Given the description of an element on the screen output the (x, y) to click on. 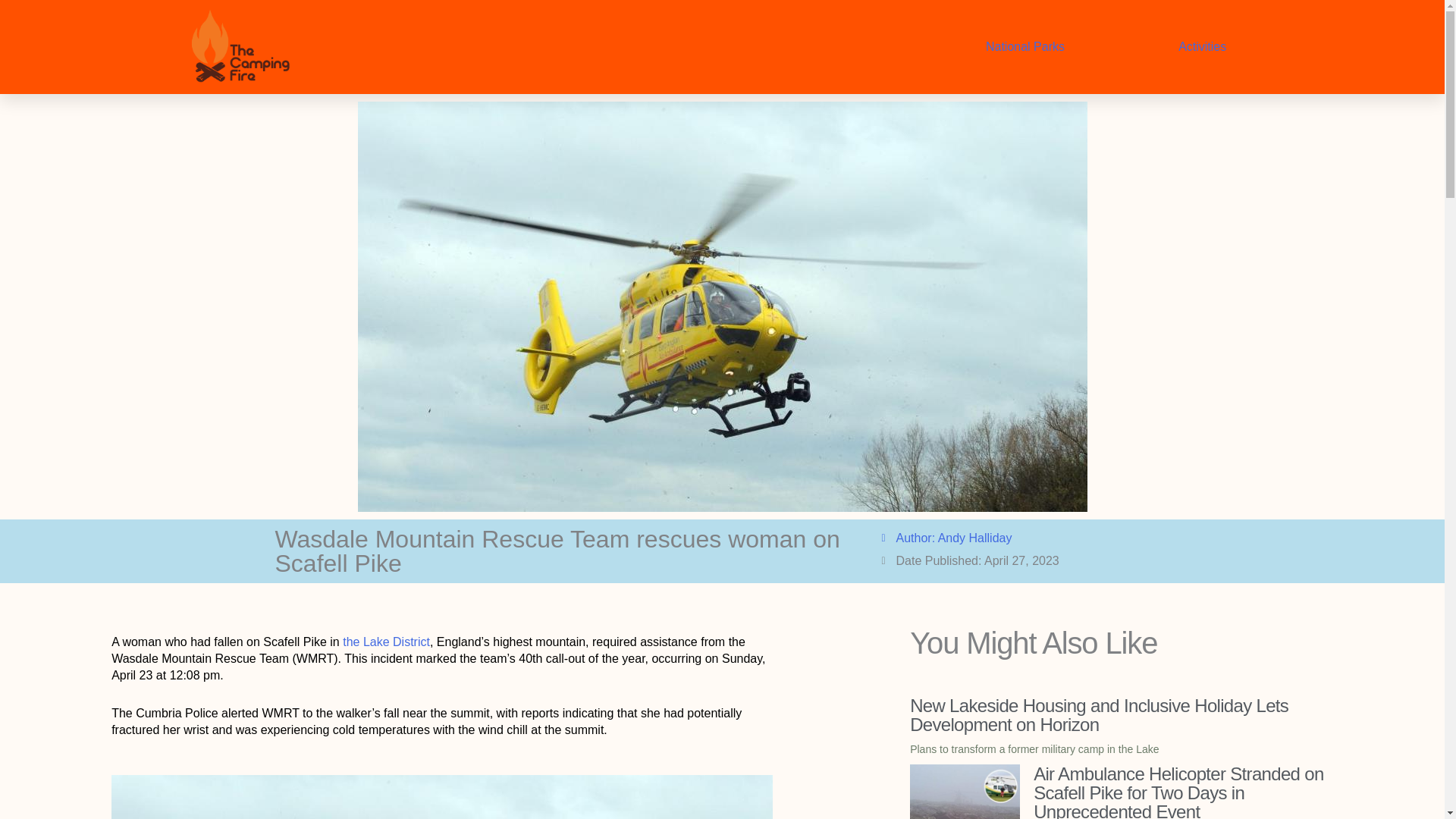
Activities (1202, 46)
National Parks (1025, 46)
